Given the description of an element on the screen output the (x, y) to click on. 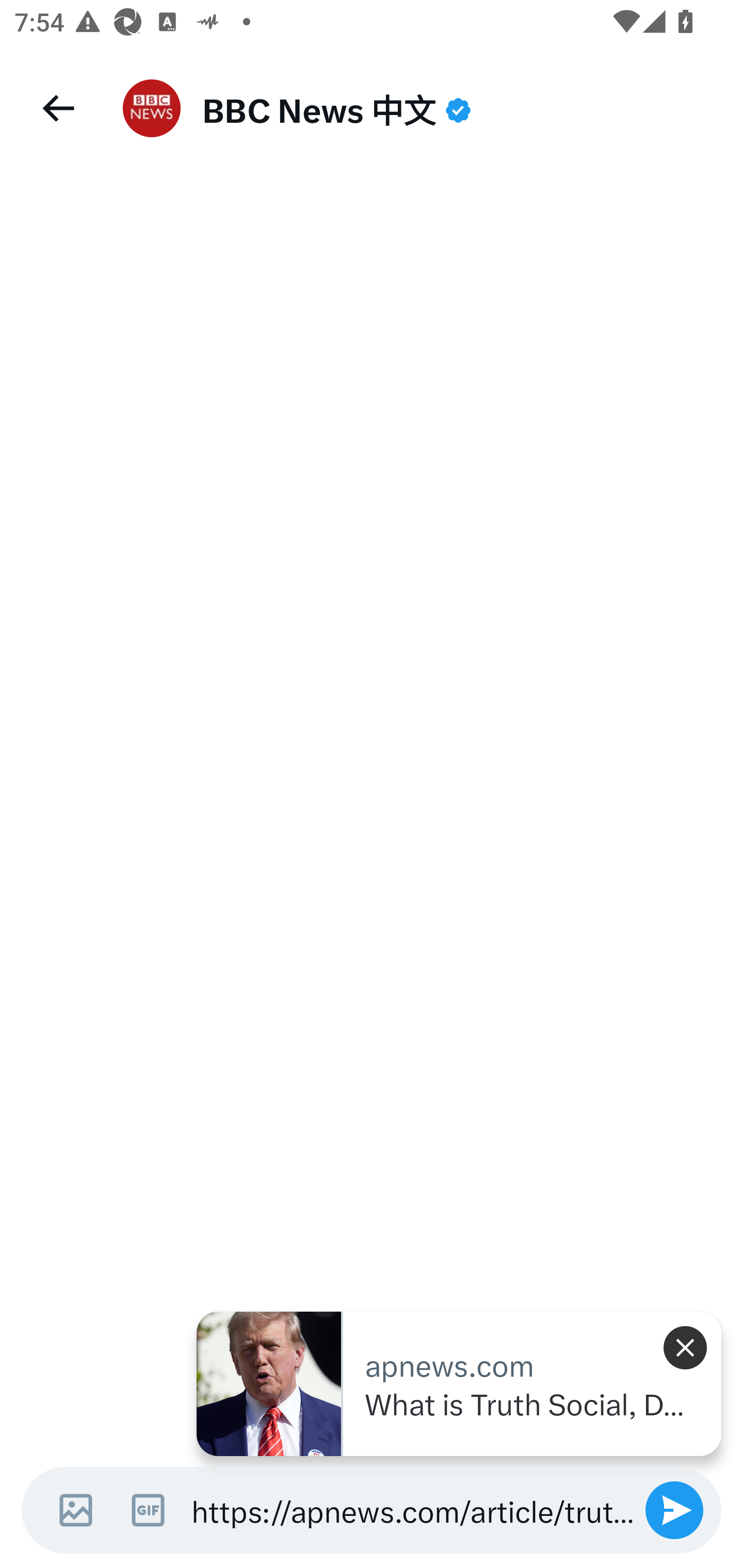
Navigate up (57, 108)
Profile image for BBC News 中文 (151, 108)
BBC News 中文 Verified (458, 108)
Photos (68, 1510)
GIF (147, 1510)
Send (673, 1510)
